Given the description of an element on the screen output the (x, y) to click on. 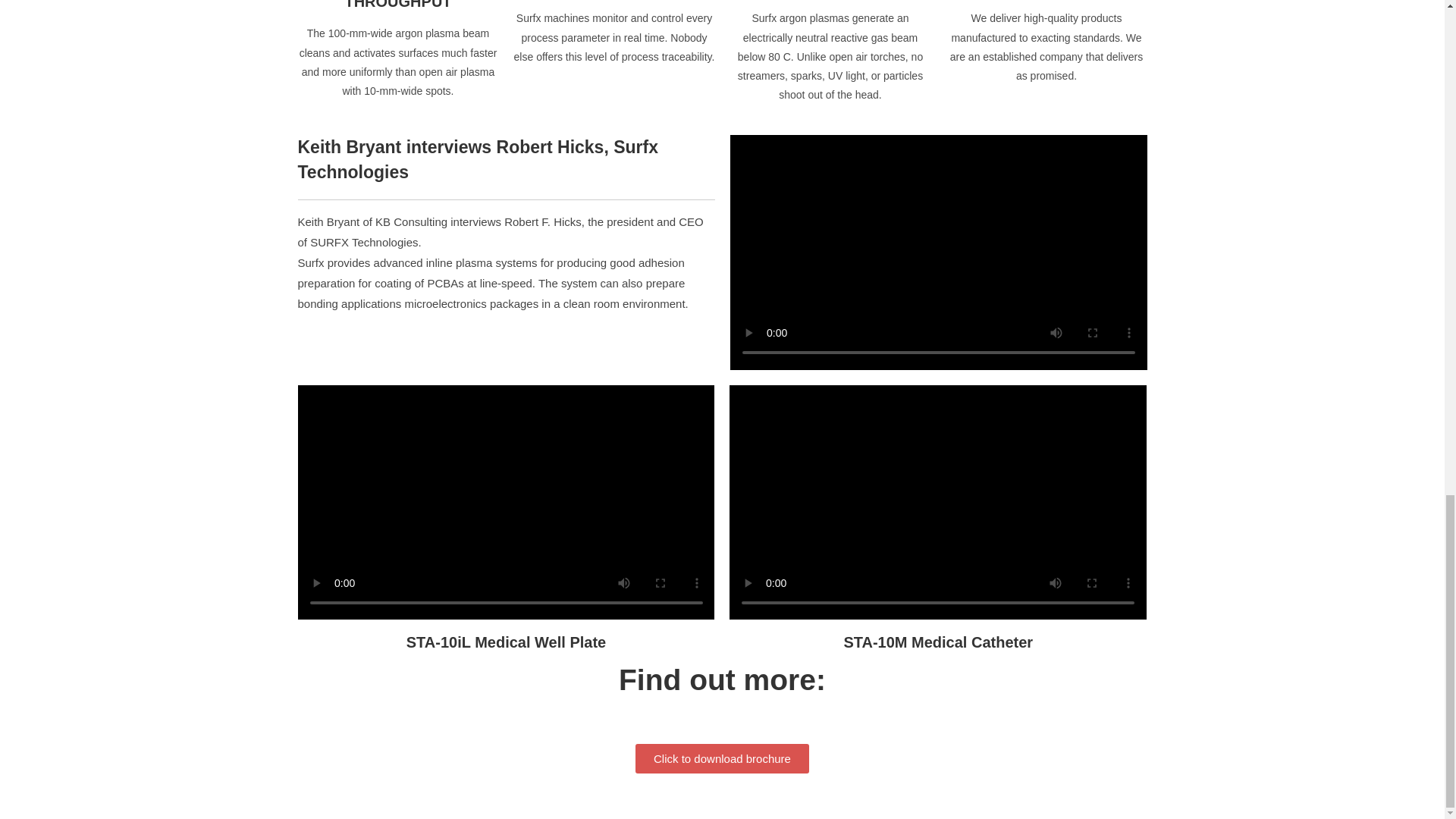
Click to download brochure (721, 758)
